Given the description of an element on the screen output the (x, y) to click on. 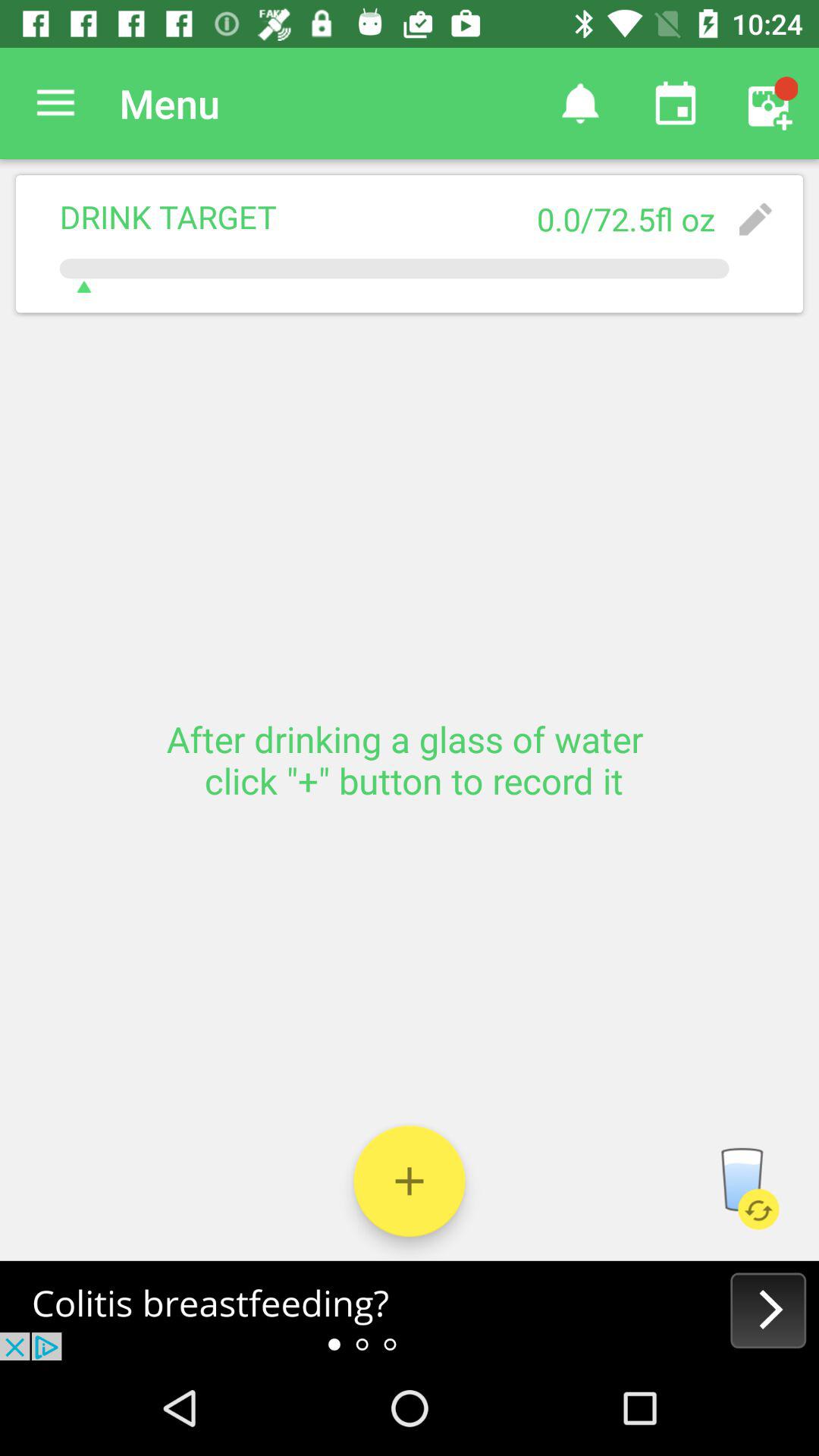
click button (409, 1181)
